Given the description of an element on the screen output the (x, y) to click on. 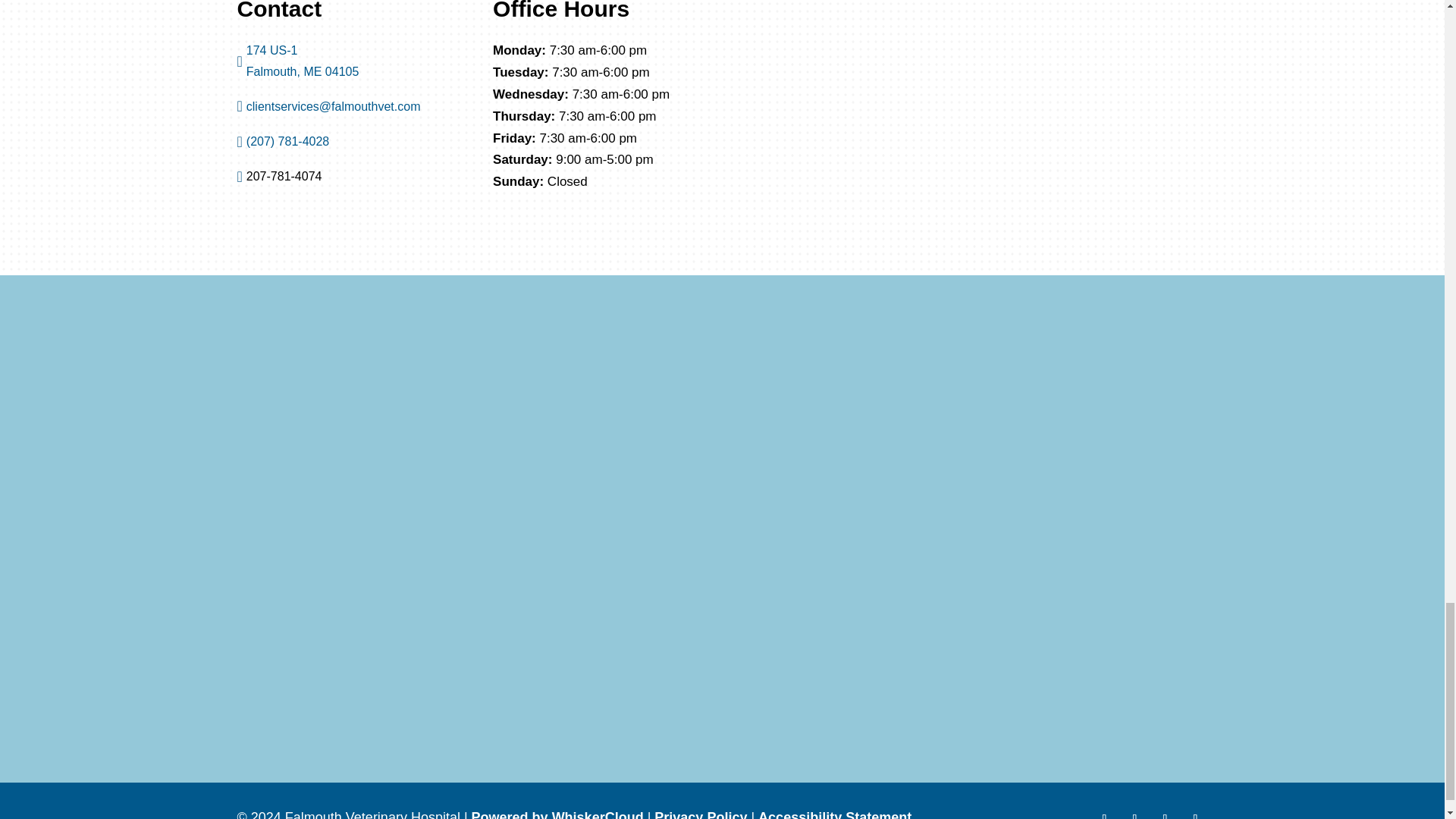
Follow on X (1134, 812)
Follow on Facebook (1104, 812)
Follow on Instagram (1194, 812)
Follow on Pinterest (1164, 812)
